Given the description of an element on the screen output the (x, y) to click on. 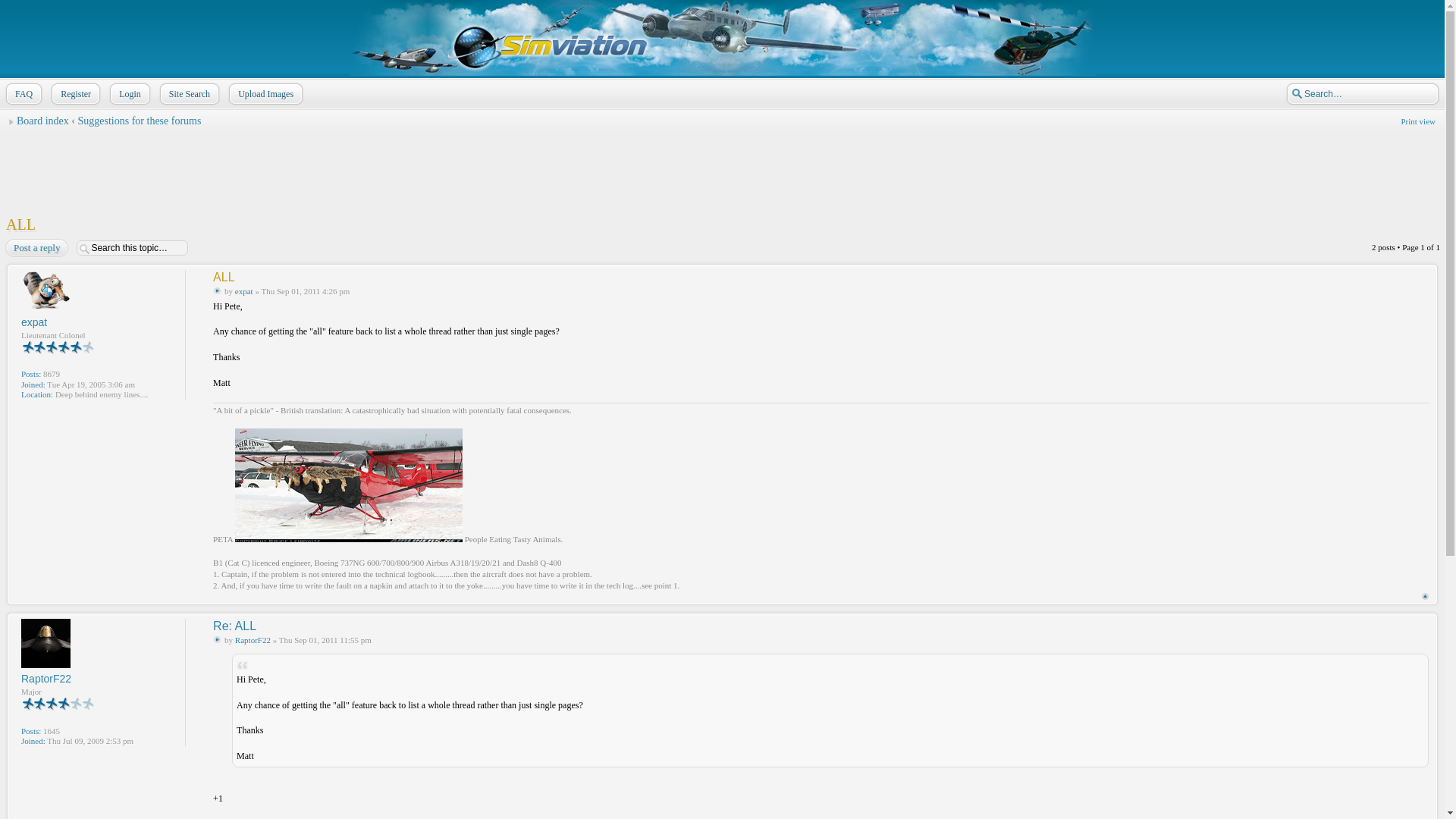
RaptorF22 (46, 678)
ALL (19, 224)
ALL (223, 277)
Frequently Asked Questions (27, 93)
Post a reply (39, 247)
Top (1425, 596)
Register (79, 93)
Top (1425, 596)
expat (243, 290)
Board index (42, 120)
Site Search (193, 93)
Upload Images (269, 93)
Suggestions for these forums (138, 120)
Lieutenant Colonel (58, 348)
Post (216, 639)
